Given the description of an element on the screen output the (x, y) to click on. 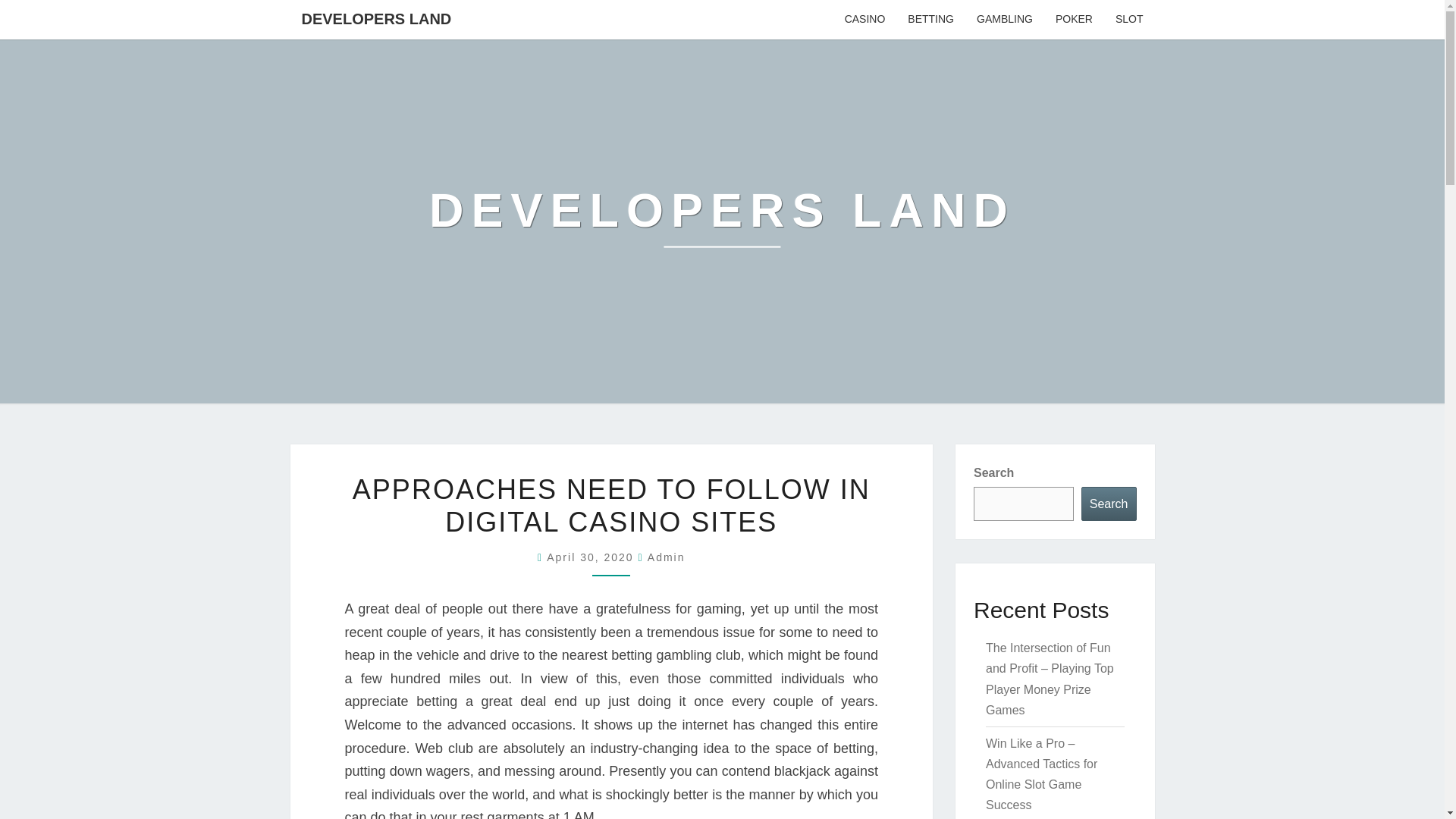
SLOT (1128, 19)
Admin (666, 557)
10:20 am (592, 557)
Developers Land (721, 220)
View all posts by admin (666, 557)
BETTING (930, 19)
April 30, 2020 (592, 557)
POKER (1073, 19)
DEVELOPERS LAND (721, 220)
GAMBLING (1004, 19)
